Given the description of an element on the screen output the (x, y) to click on. 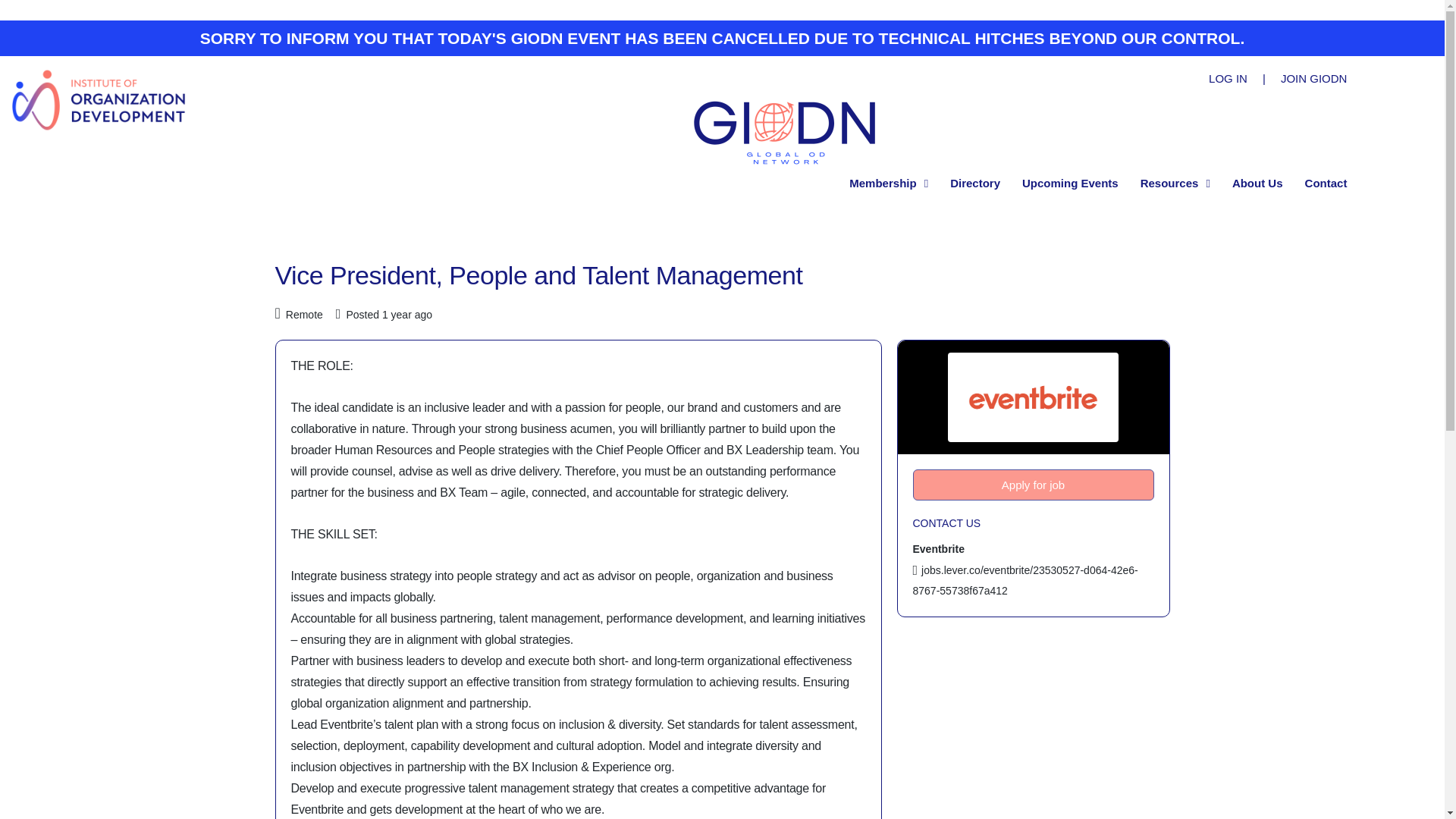
Directory (975, 182)
Membership (888, 182)
Upcoming Events (1070, 182)
Apply for job (1033, 484)
giodn new logo2023 (784, 130)
Resources (1174, 182)
JOIN GIODN (1314, 78)
Contact (1326, 182)
LOG IN (1227, 78)
About Us (1256, 182)
